Given the description of an element on the screen output the (x, y) to click on. 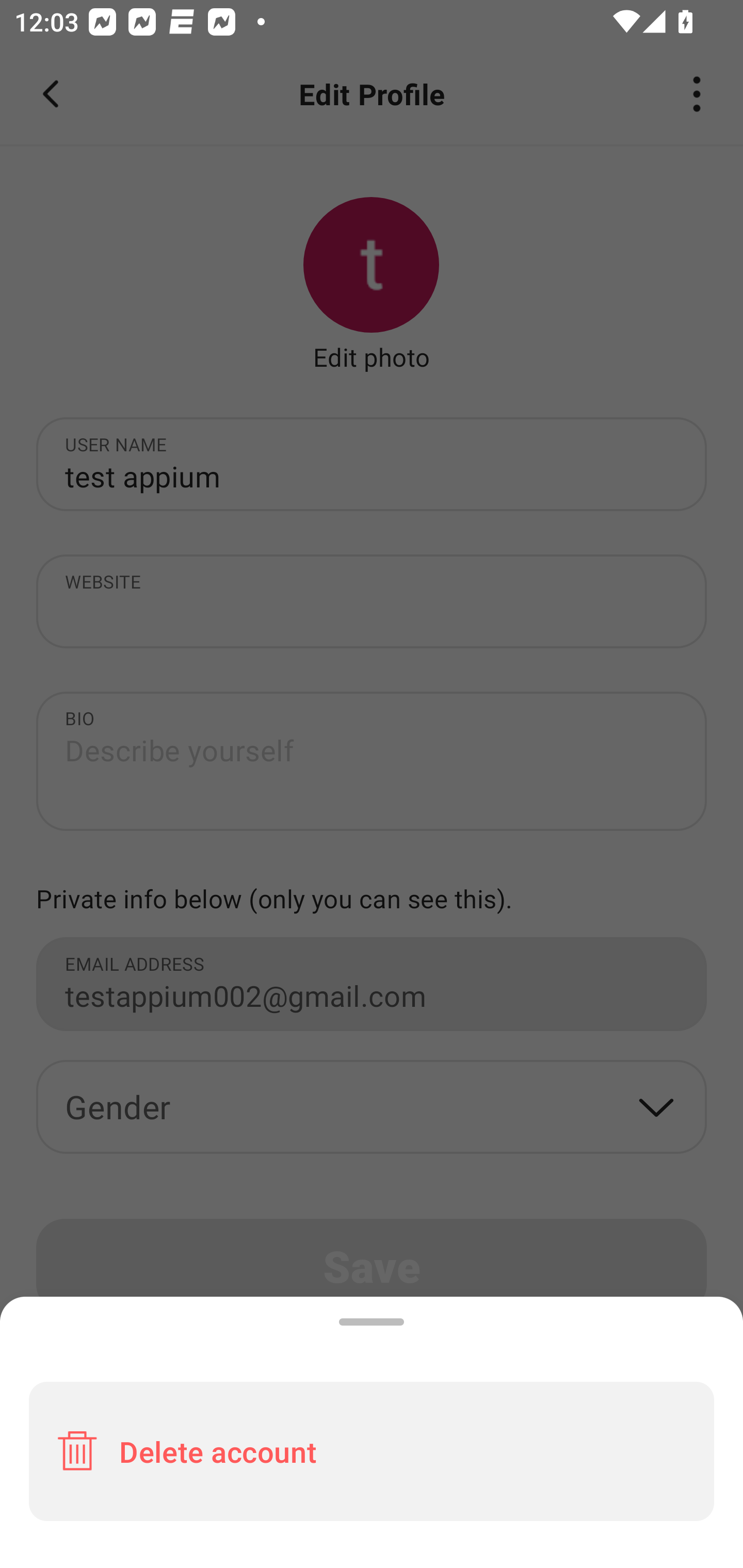
Delete account (371, 1450)
